Given the description of an element on the screen output the (x, y) to click on. 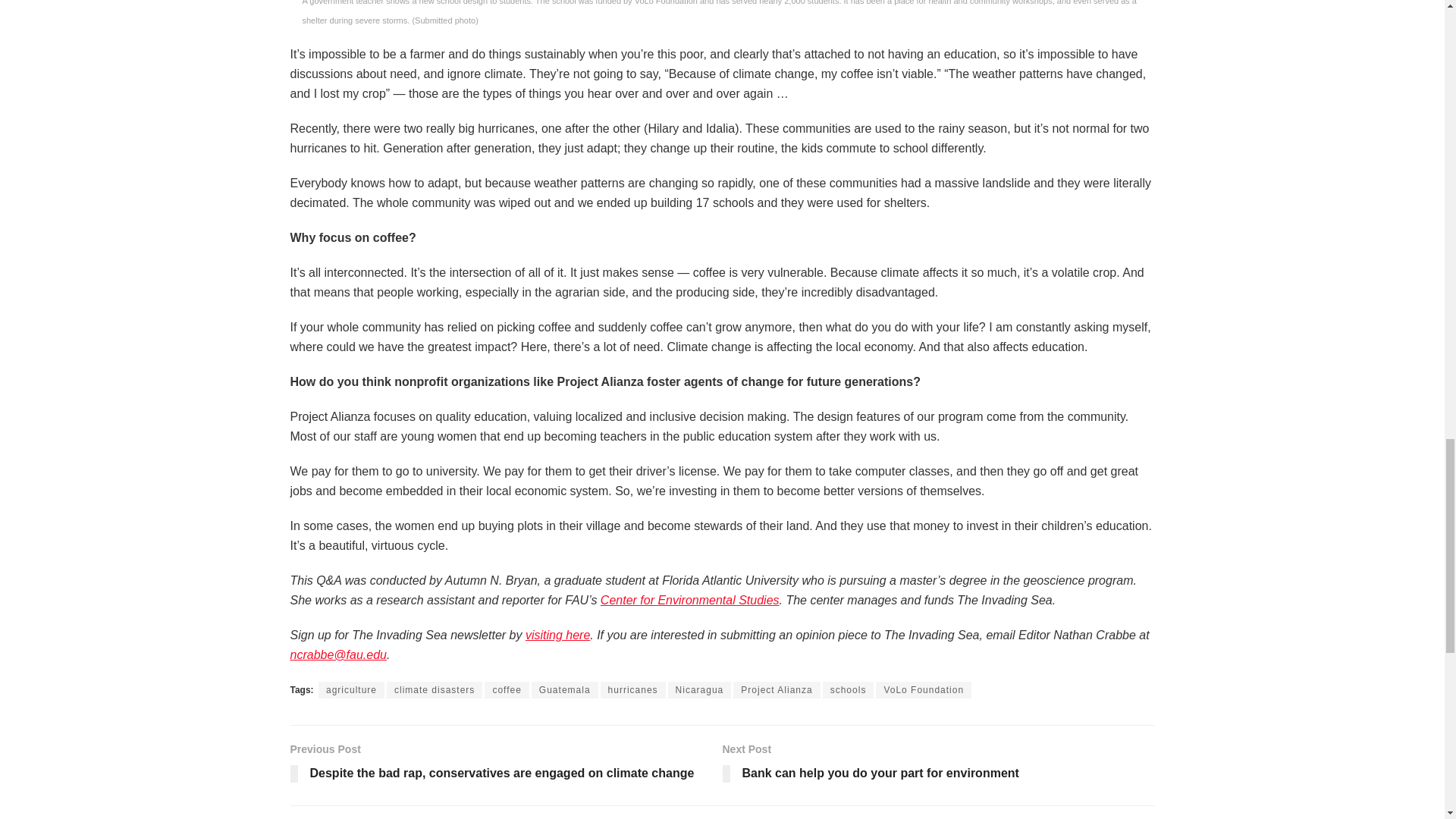
Center for Environmental Studies (688, 599)
agriculture (351, 689)
coffee (506, 689)
climate disasters (434, 689)
Guatemala (564, 689)
visiting here (557, 634)
hurricanes (632, 689)
Nicaragua (700, 689)
